Given the description of an element on the screen output the (x, y) to click on. 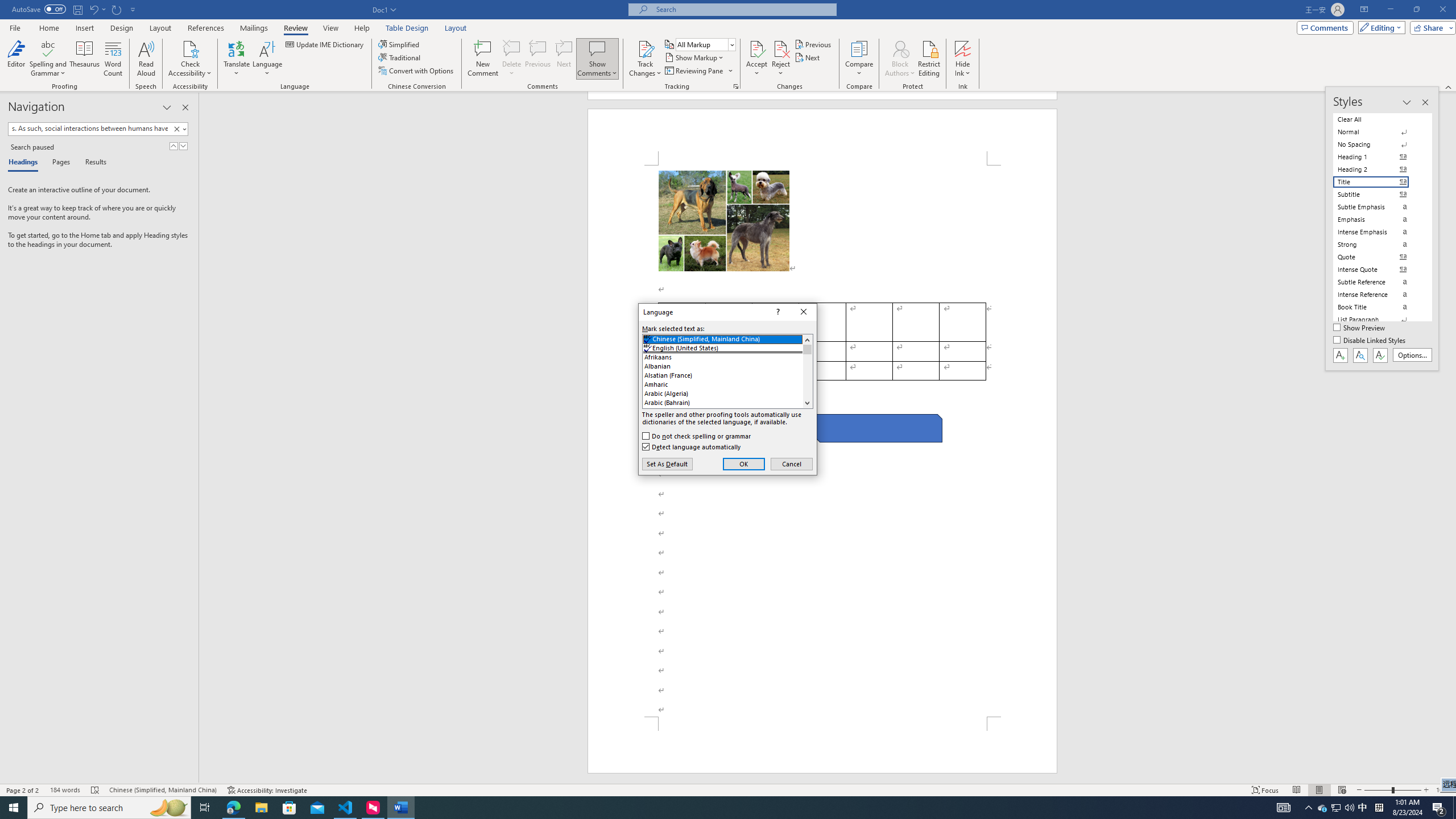
Class: NetUIButton (1380, 355)
Thesaurus... (84, 58)
Clear All (1377, 119)
Translate (236, 58)
List Paragraph (1377, 319)
Block Authors (900, 48)
